Given the description of an element on the screen output the (x, y) to click on. 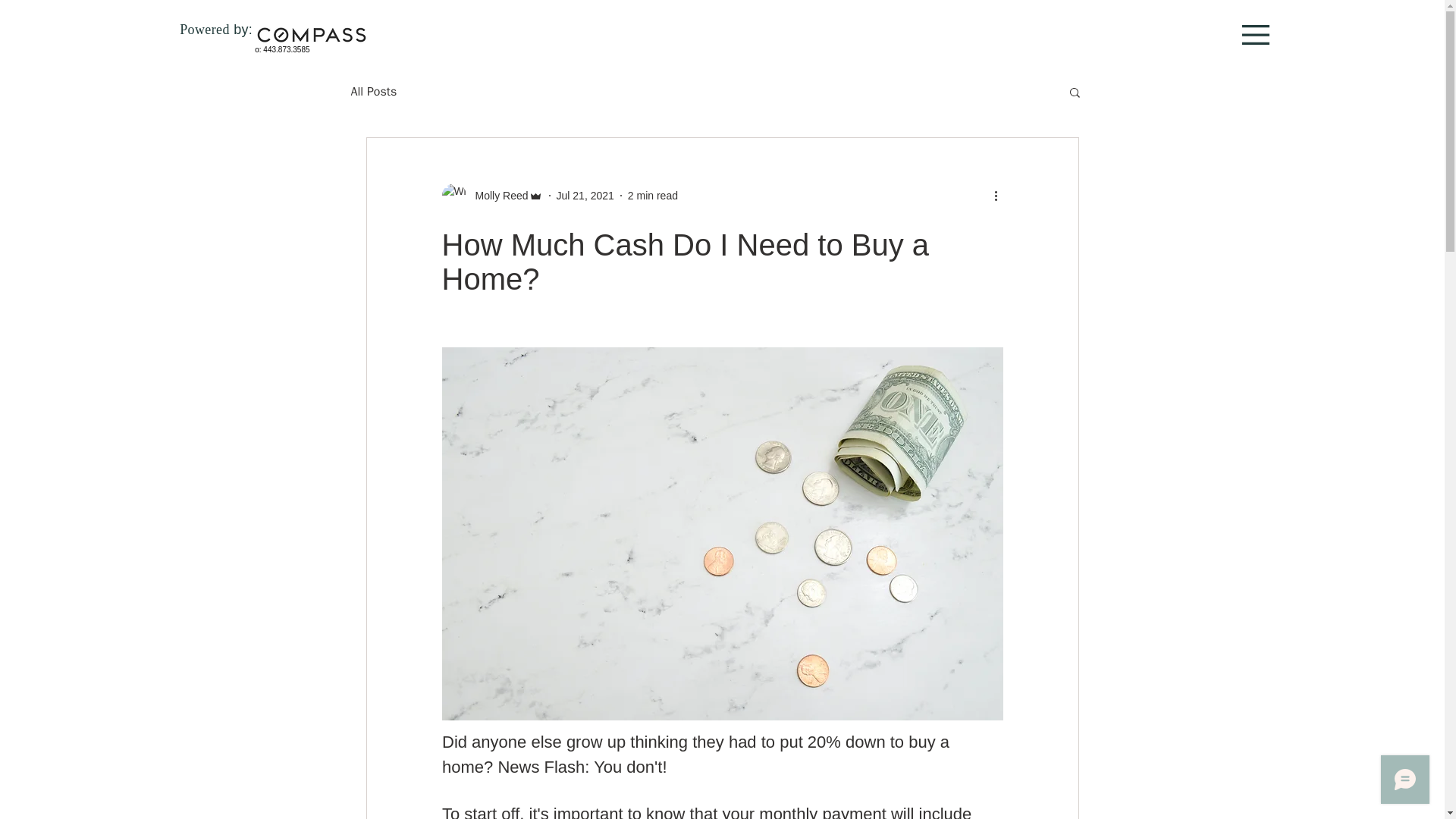
Jul 21, 2021 (585, 195)
All Posts (373, 91)
2 min read (652, 195)
Molly Reed (496, 195)
Powered by: (215, 29)
